Given the description of an element on the screen output the (x, y) to click on. 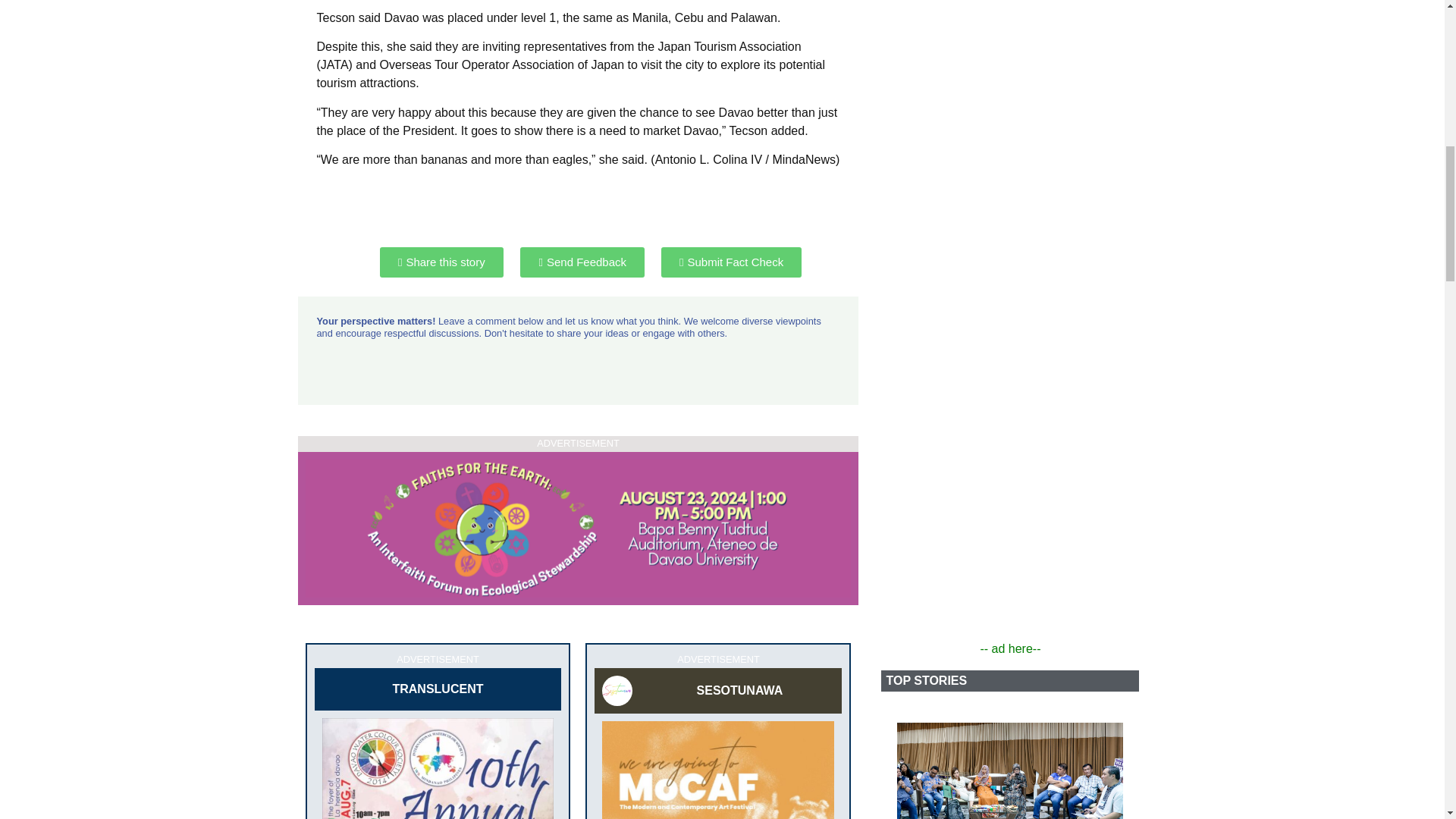
Share this story (441, 262)
Submit Fact Check (731, 262)
Send Feedback (582, 262)
